Given the description of an element on the screen output the (x, y) to click on. 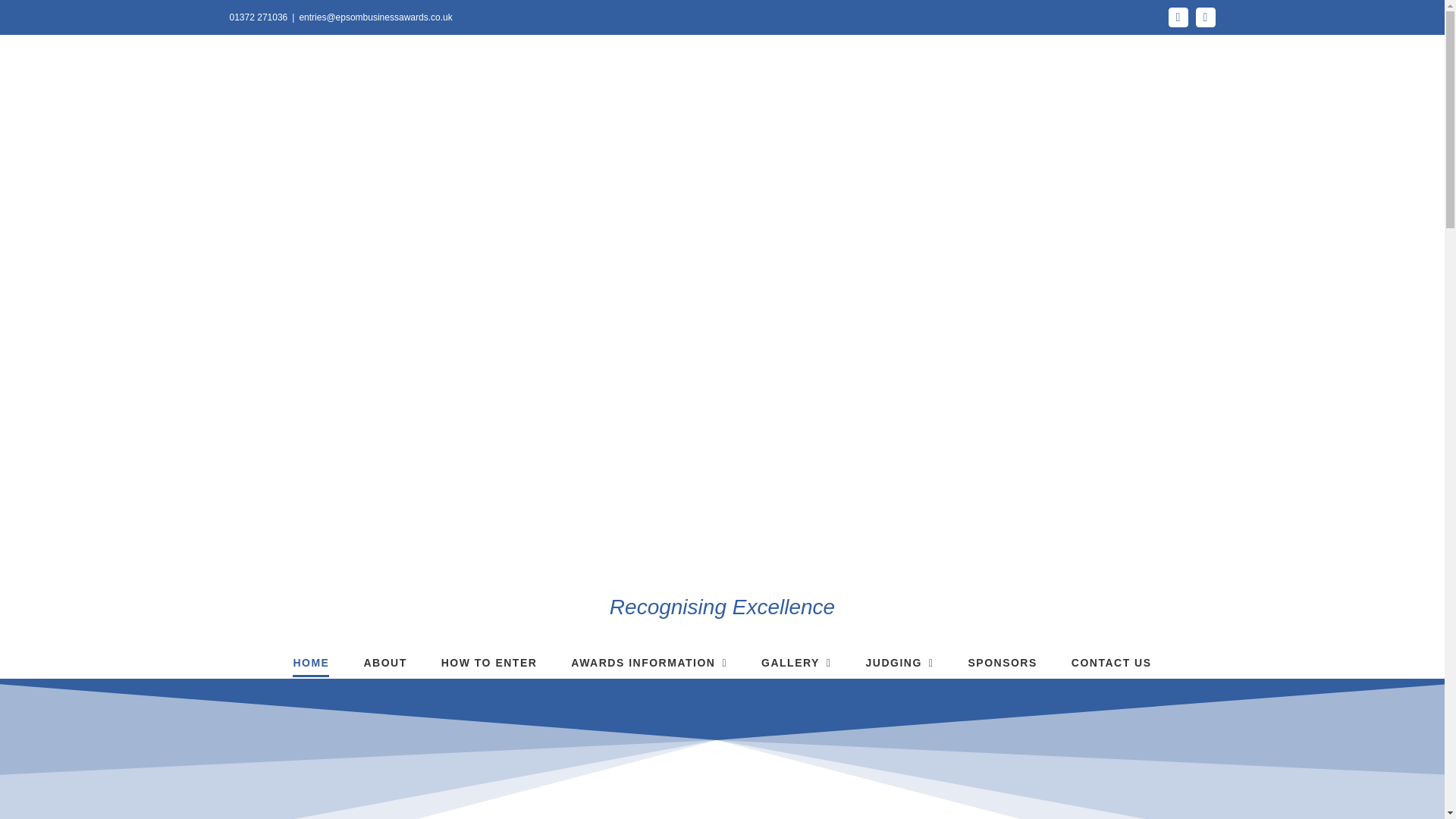
JUDGING (900, 662)
X (1204, 17)
AWARDS INFORMATION (648, 662)
HOW TO ENTER (489, 662)
Facebook (1177, 17)
GALLERY (796, 662)
SPONSORS (1002, 662)
HOME (310, 662)
Facebook (1177, 17)
X (1204, 17)
